Given the description of an element on the screen output the (x, y) to click on. 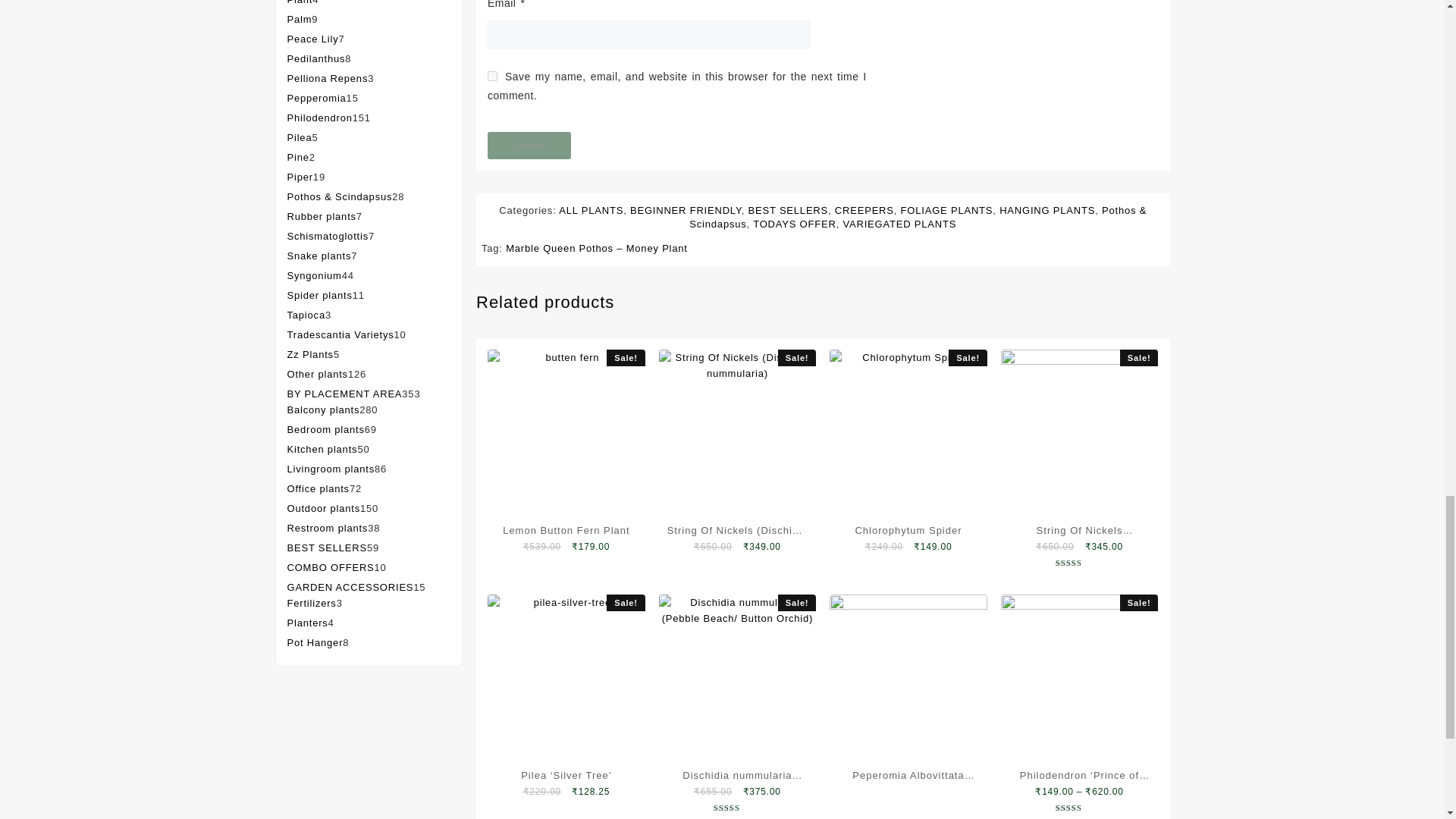
yes (492, 76)
Submit (528, 144)
